Given the description of an element on the screen output the (x, y) to click on. 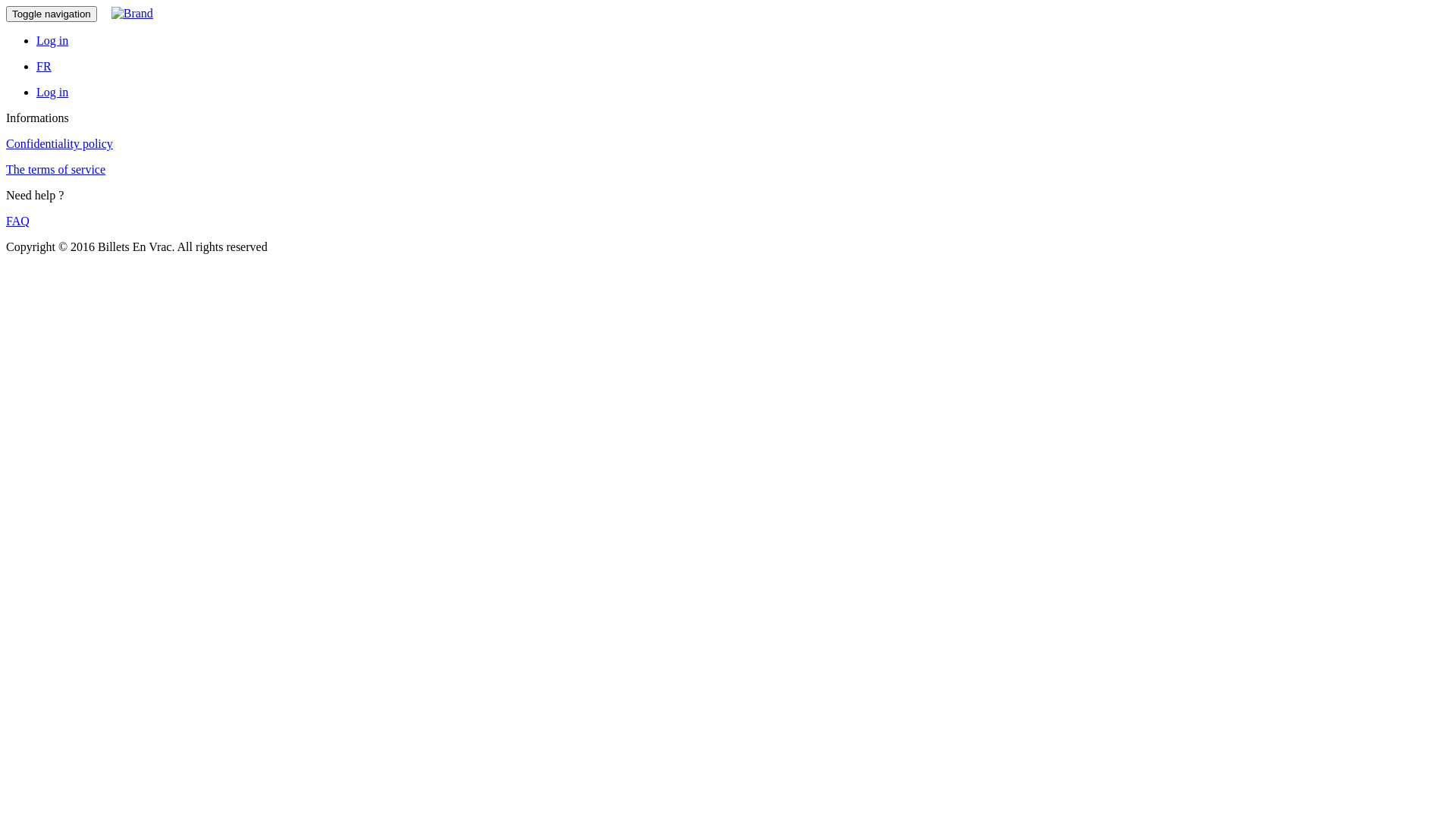
FR Element type: text (43, 65)
Toggle navigation Element type: text (51, 13)
FAQ Element type: text (17, 220)
Log in Element type: text (52, 40)
The terms of service Element type: text (55, 169)
Confidentiality policy Element type: text (59, 143)
Log in Element type: text (52, 91)
